Given the description of an element on the screen output the (x, y) to click on. 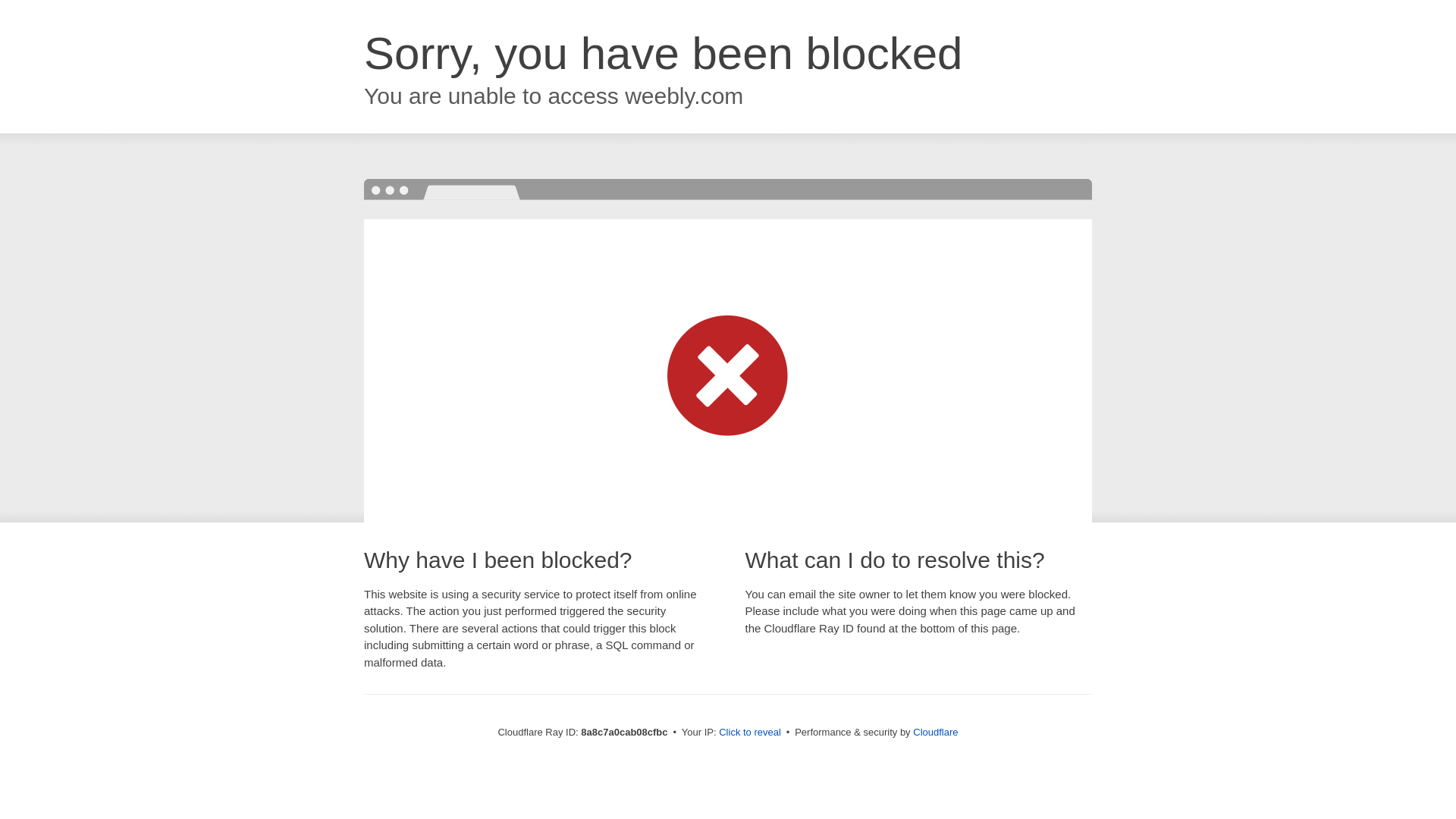
Cloudflare (935, 731)
Click to reveal (749, 732)
